Given the description of an element on the screen output the (x, y) to click on. 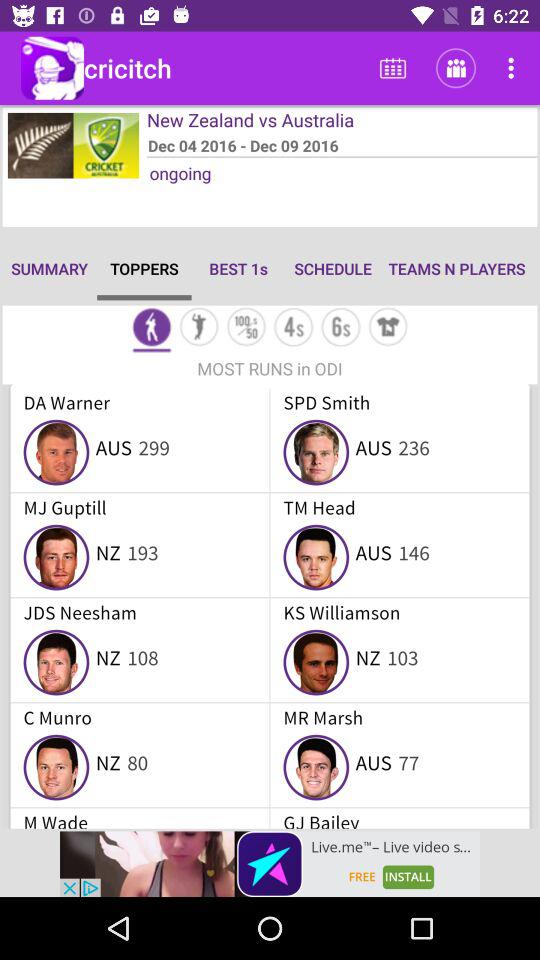
mode selection (151, 328)
